Given the description of an element on the screen output the (x, y) to click on. 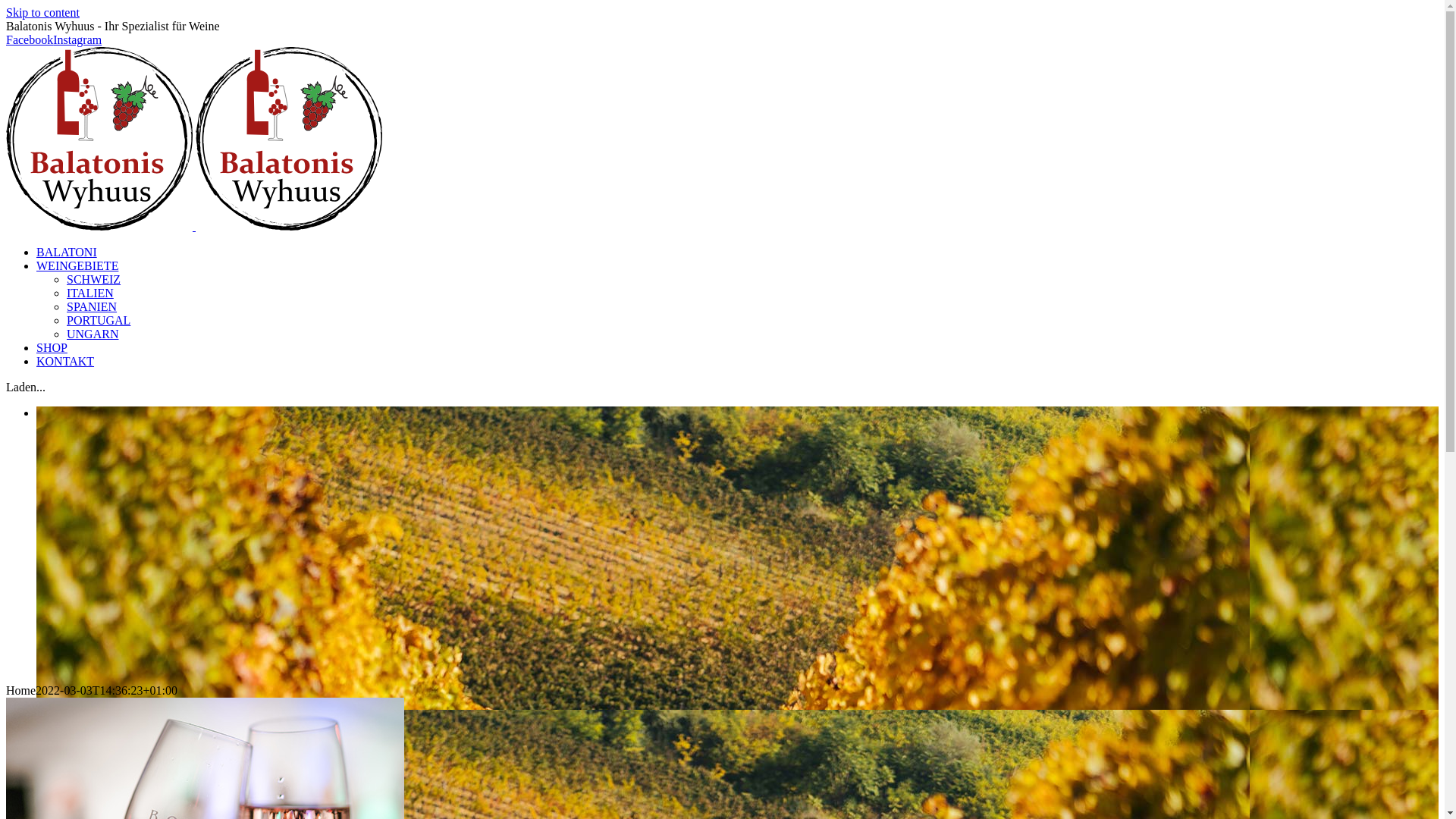
Facebook Element type: text (29, 39)
PORTUGAL Element type: text (98, 319)
SPANIEN Element type: text (91, 306)
ITALIEN Element type: text (89, 292)
UNGARN Element type: text (92, 333)
BALATONI Element type: text (66, 251)
Instagram Element type: text (77, 39)
Skip to content Element type: text (42, 12)
WEINGEBIETE Element type: text (77, 265)
SHOP Element type: text (51, 347)
SCHWEIZ Element type: text (93, 279)
KONTAKT Element type: text (65, 360)
